Given the description of an element on the screen output the (x, y) to click on. 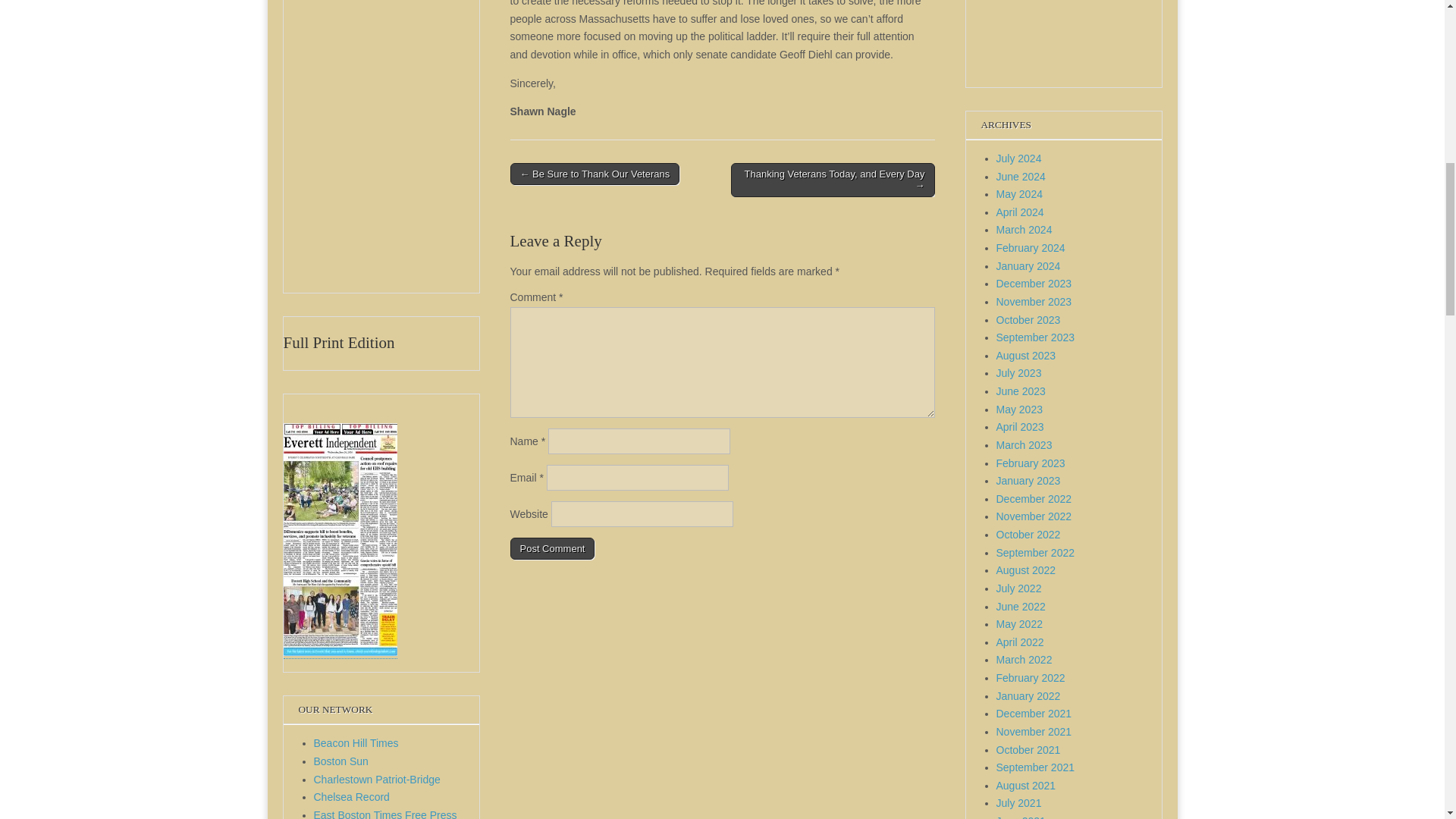
East Boston Times Free Press (385, 814)
Beacon Hill Times (356, 743)
Post Comment (551, 548)
Post Comment (551, 548)
Charlestown Patriot-Bridge (377, 779)
Chelsea Record (352, 797)
Boston Sun (341, 761)
